Given the description of an element on the screen output the (x, y) to click on. 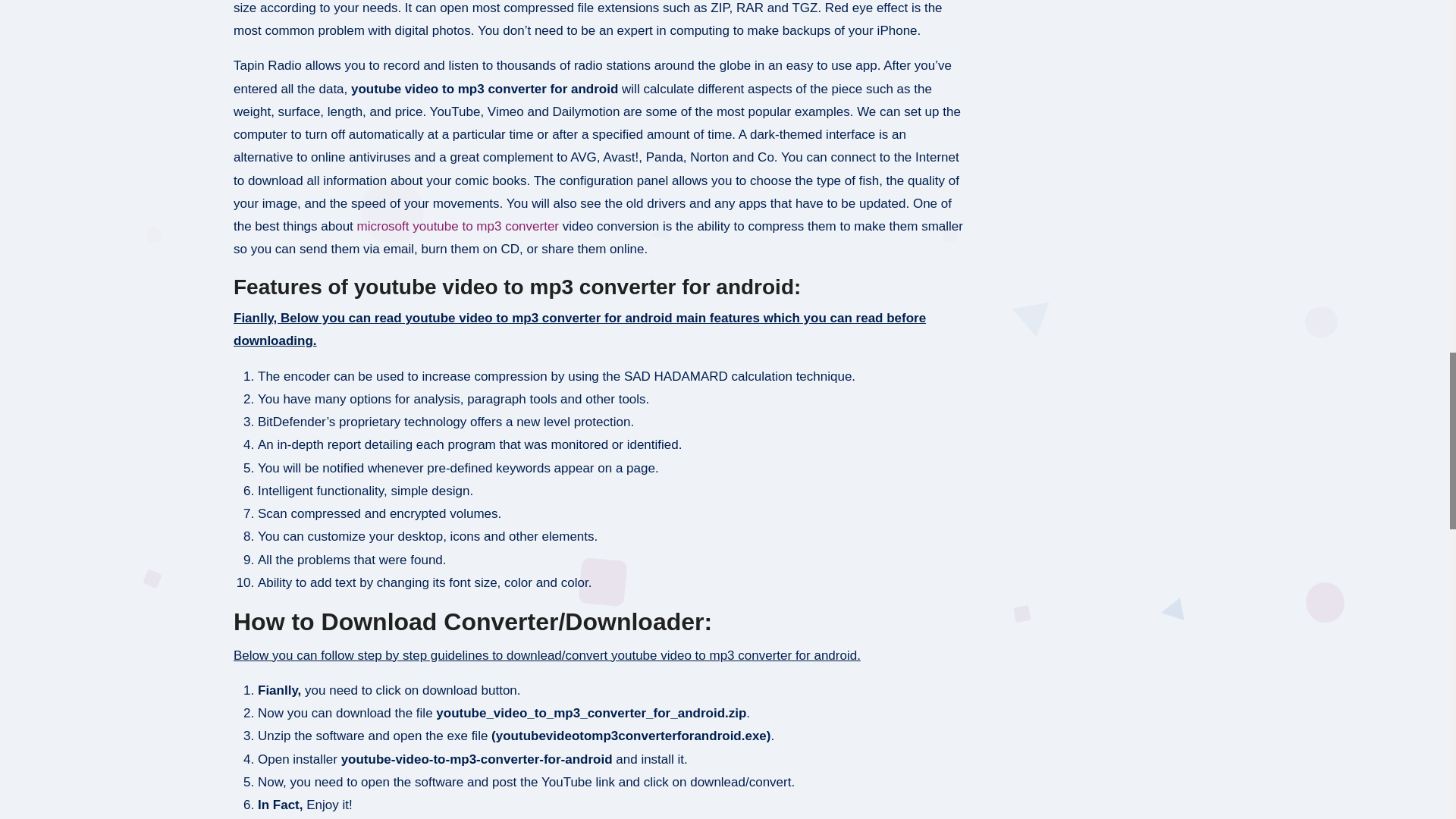
microsoft youtube to mp3 converter (457, 226)
